Given the description of an element on the screen output the (x, y) to click on. 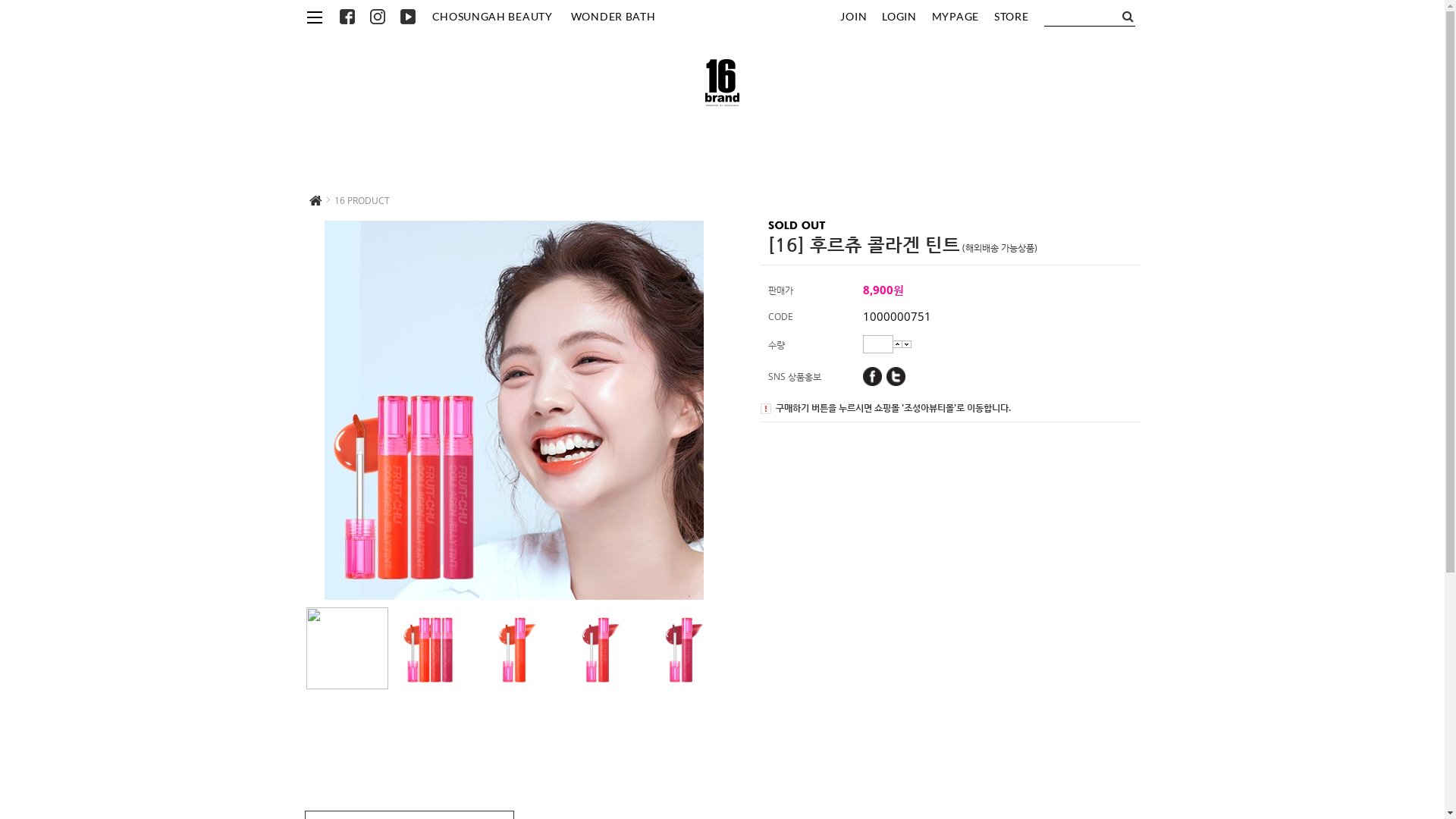
16 PRODUCT Element type: text (361, 200)
WONDER BATH Element type: text (613, 16)
JOIN Element type: text (853, 15)
LOGIN Element type: text (898, 15)
STORE Element type: text (1011, 15)
MYPAGE Element type: text (955, 15)
CHOSUNGAH BEAUTY Element type: text (491, 16)
